Given the description of an element on the screen output the (x, y) to click on. 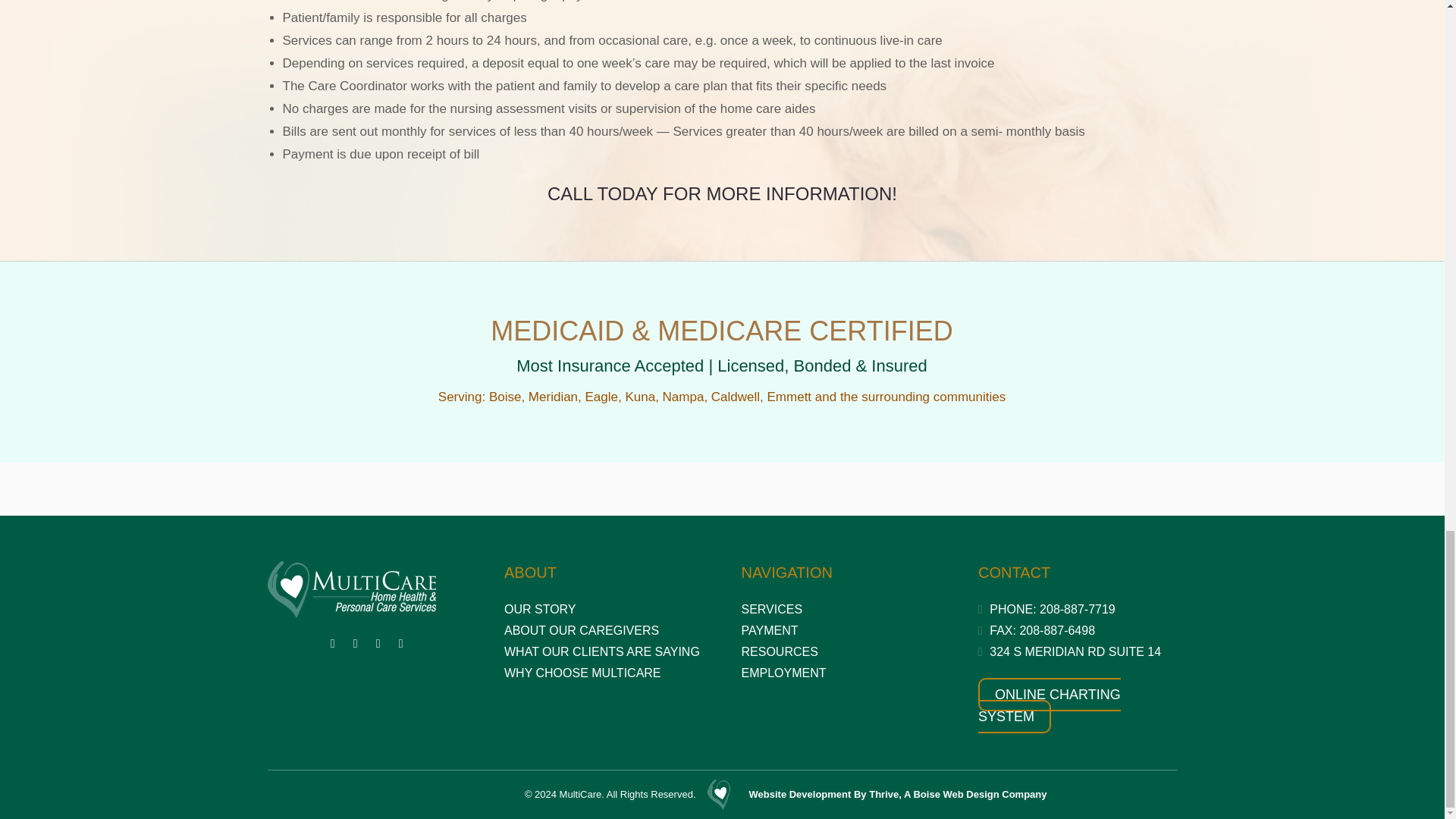
Instagram page opens in new window (400, 643)
Linkedin page opens in new window (378, 643)
YouTube page opens in new window (355, 643)
Facebook page opens in new window (332, 643)
